Given the description of an element on the screen output the (x, y) to click on. 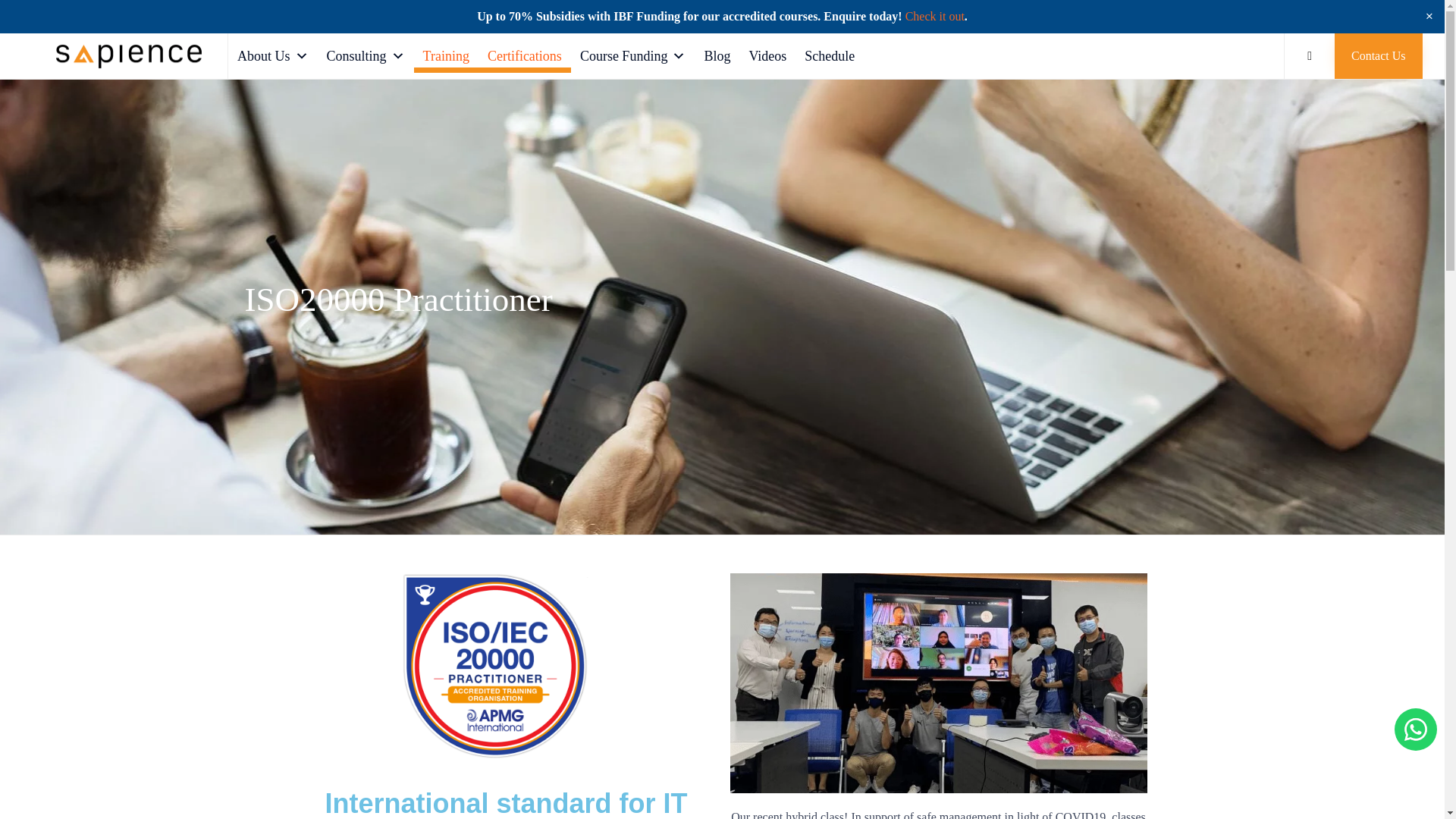
About Us (272, 55)
Training (446, 55)
Sapience Consulting (128, 56)
WhatsApp us (1415, 729)
Check it out (934, 16)
Consulting (365, 55)
